Given the description of an element on the screen output the (x, y) to click on. 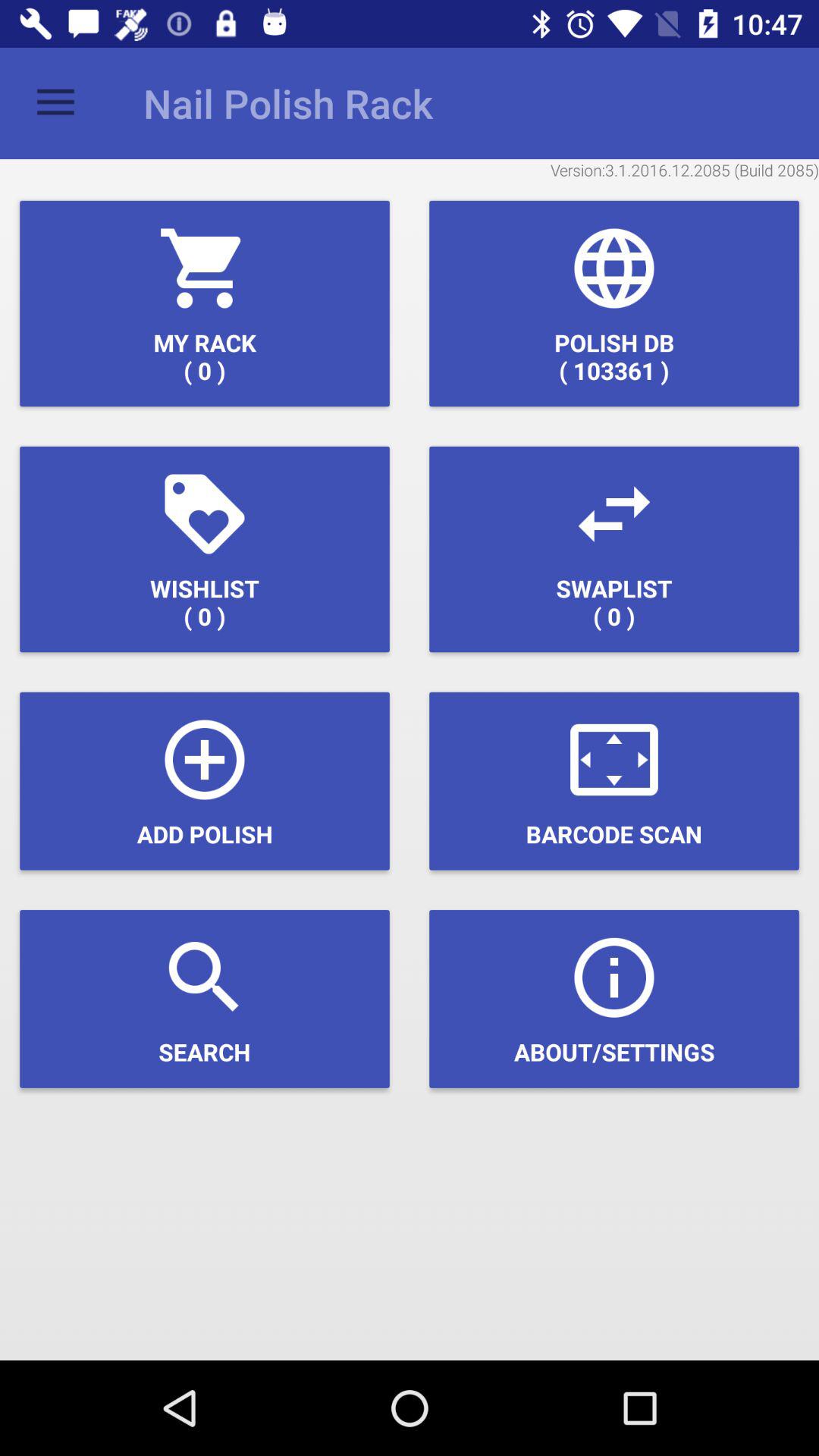
select icon below add polish icon (204, 999)
